Given the description of an element on the screen output the (x, y) to click on. 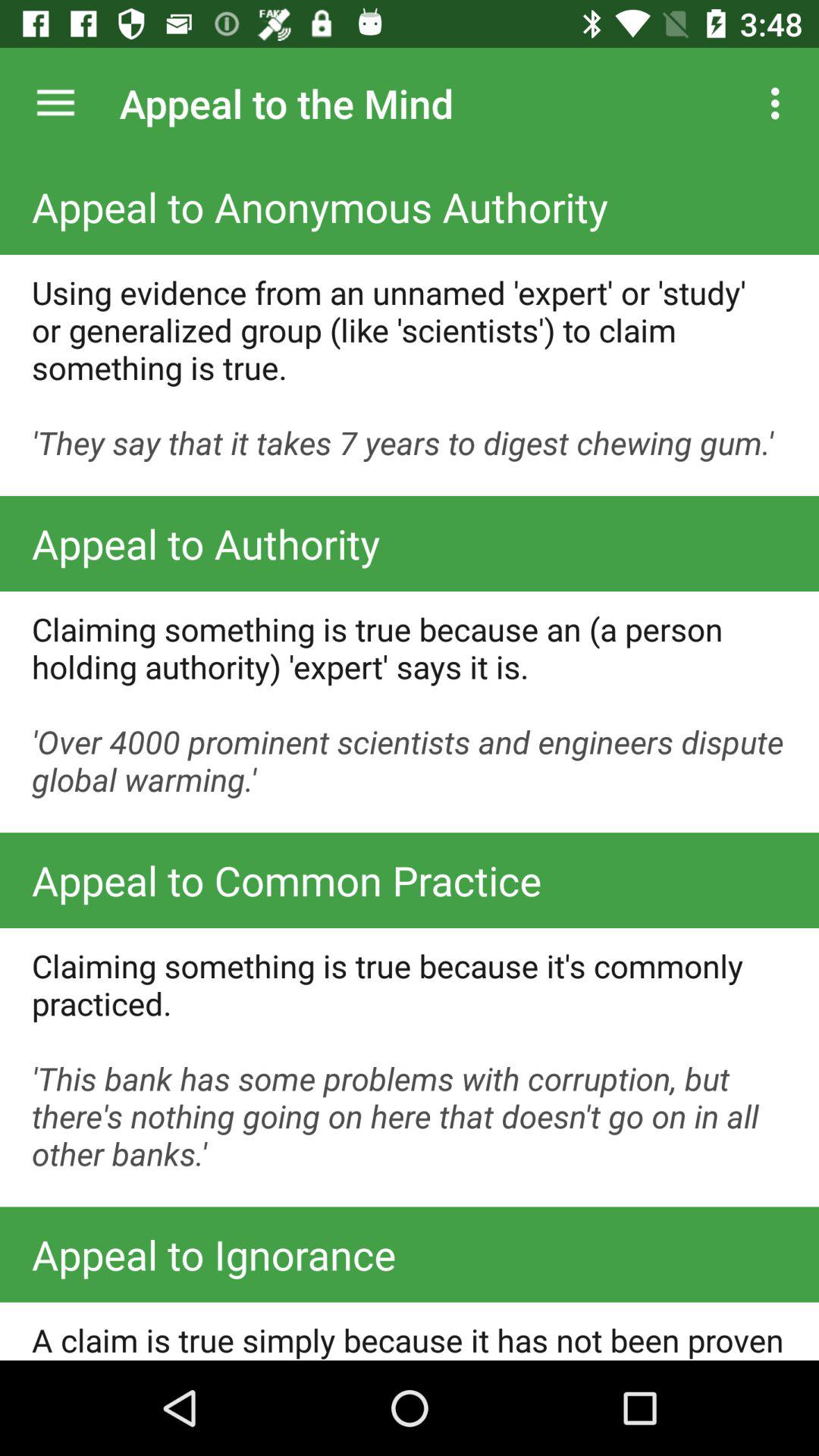
launch icon next to appeal to the item (55, 103)
